Given the description of an element on the screen output the (x, y) to click on. 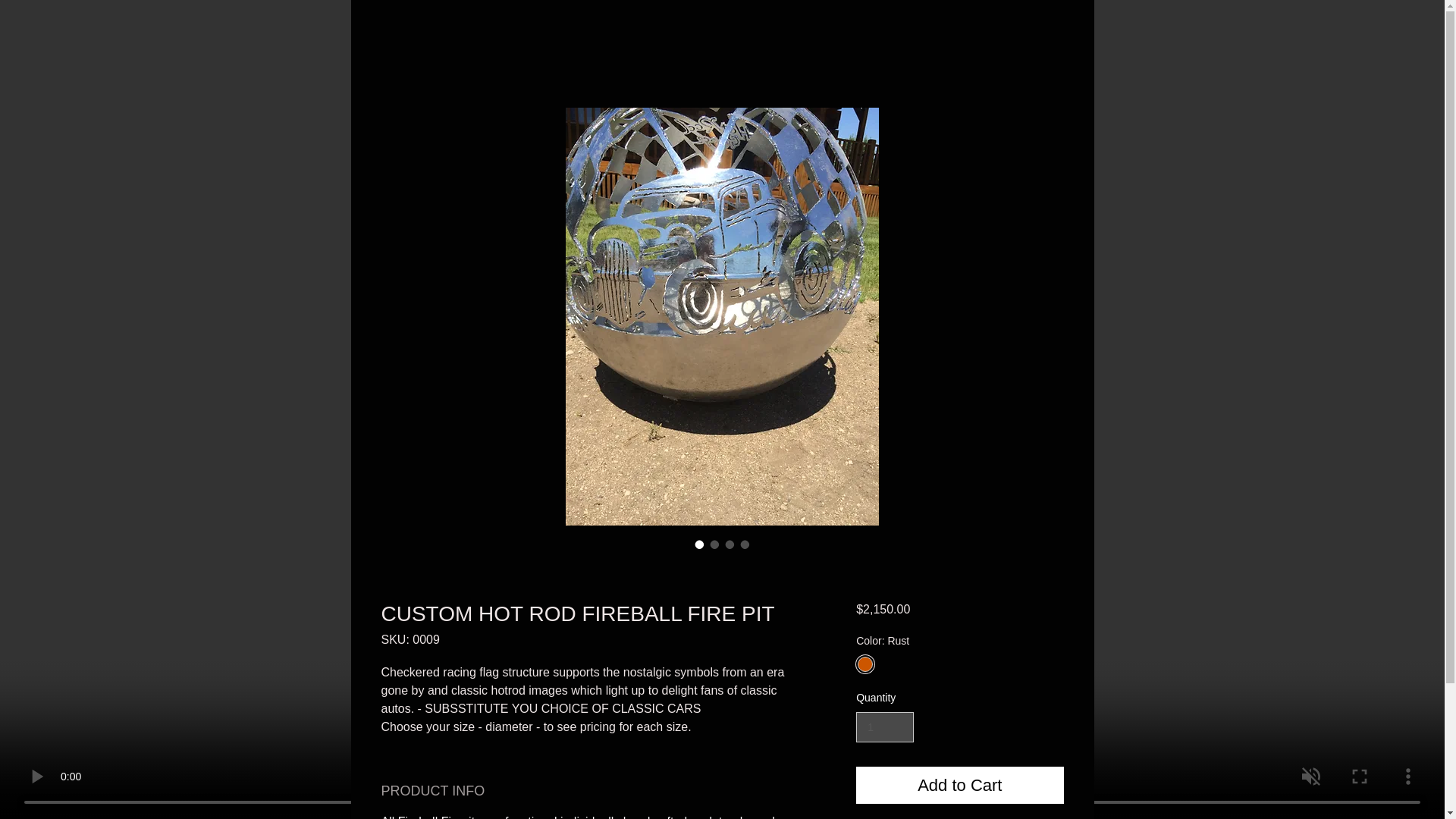
Add to Cart (959, 784)
1 (885, 726)
